Given the description of an element on the screen output the (x, y) to click on. 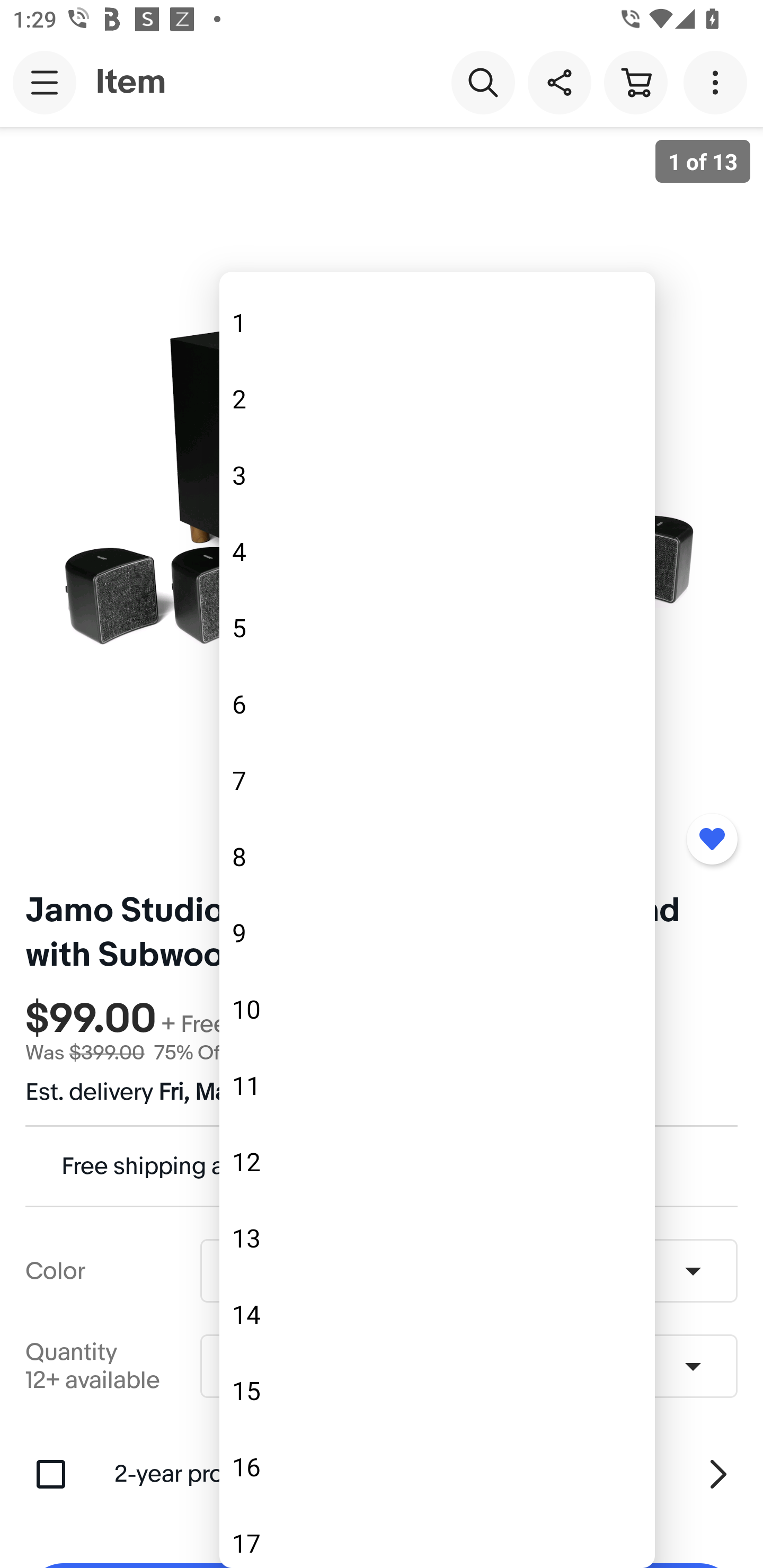
1 (436, 321)
2 (436, 398)
3 (436, 474)
4 (436, 550)
5 (436, 627)
6 (436, 703)
7 (436, 779)
8 (436, 856)
9 (436, 932)
10 (436, 1008)
11 (436, 1085)
12 (436, 1161)
13 (436, 1237)
14 (436, 1313)
15 (436, 1389)
16 (436, 1466)
17 (436, 1530)
